Given the description of an element on the screen output the (x, y) to click on. 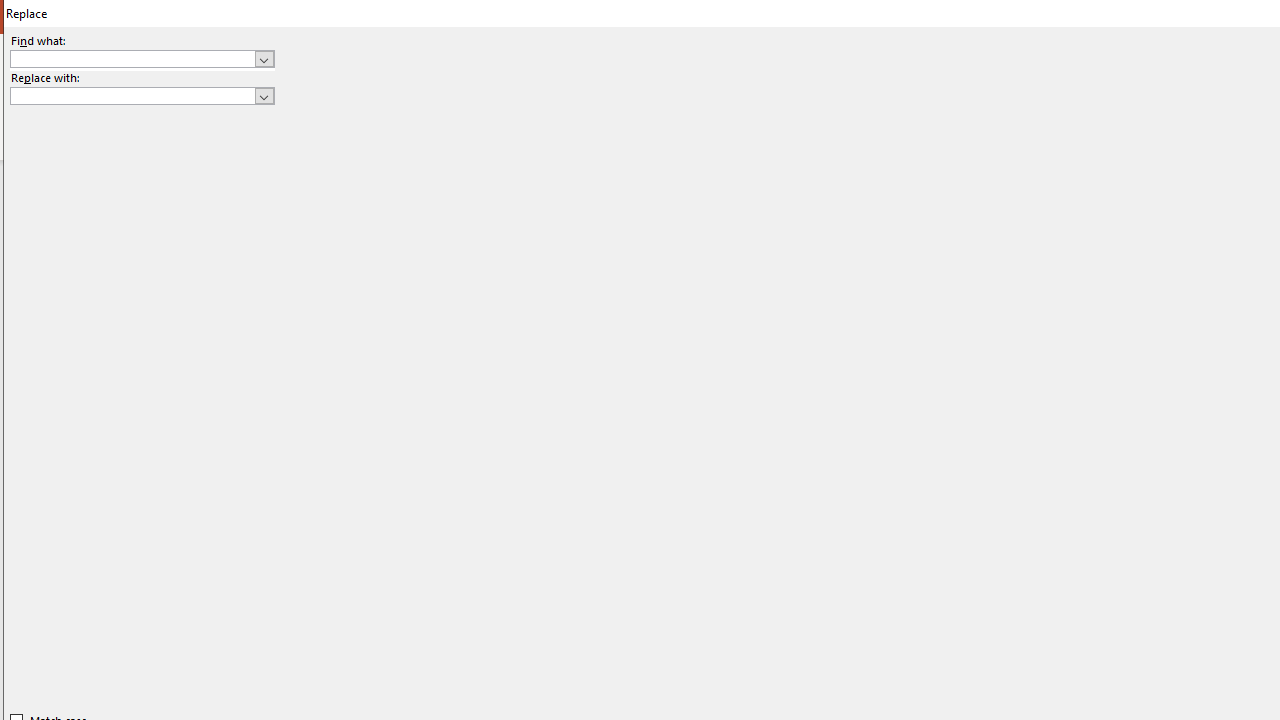
Find what (142, 58)
Replace with (132, 95)
Find what (132, 58)
Replace with (142, 96)
